Given the description of an element on the screen output the (x, y) to click on. 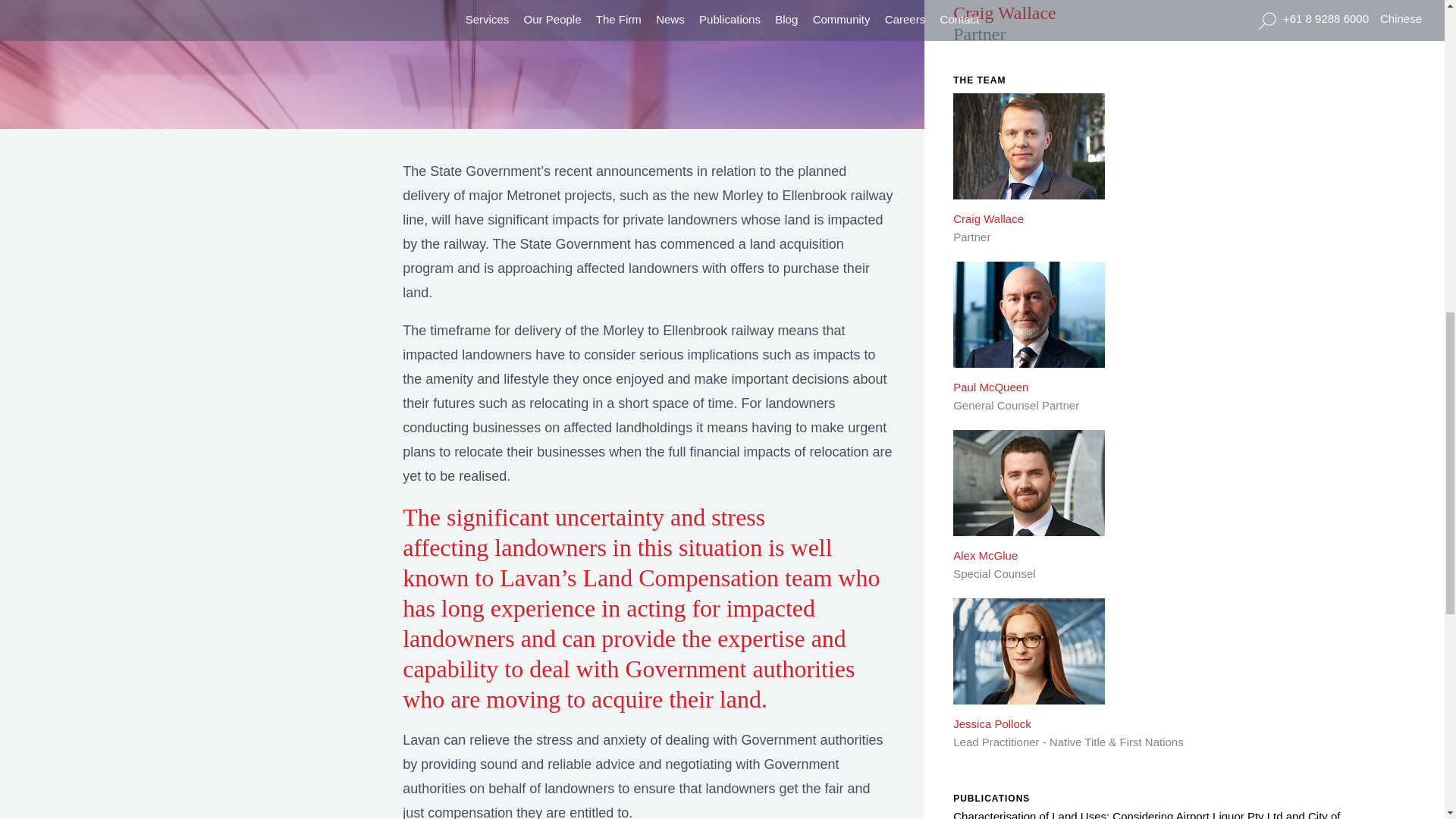
JessicaPollock-JLP-2800x1800.jpg (1029, 661)
Craig Wallace (1029, 156)
AlexMcGlue2.jpg (1029, 493)
PaulMcQueen-new-2800.jpg (1029, 325)
